Given the description of an element on the screen output the (x, y) to click on. 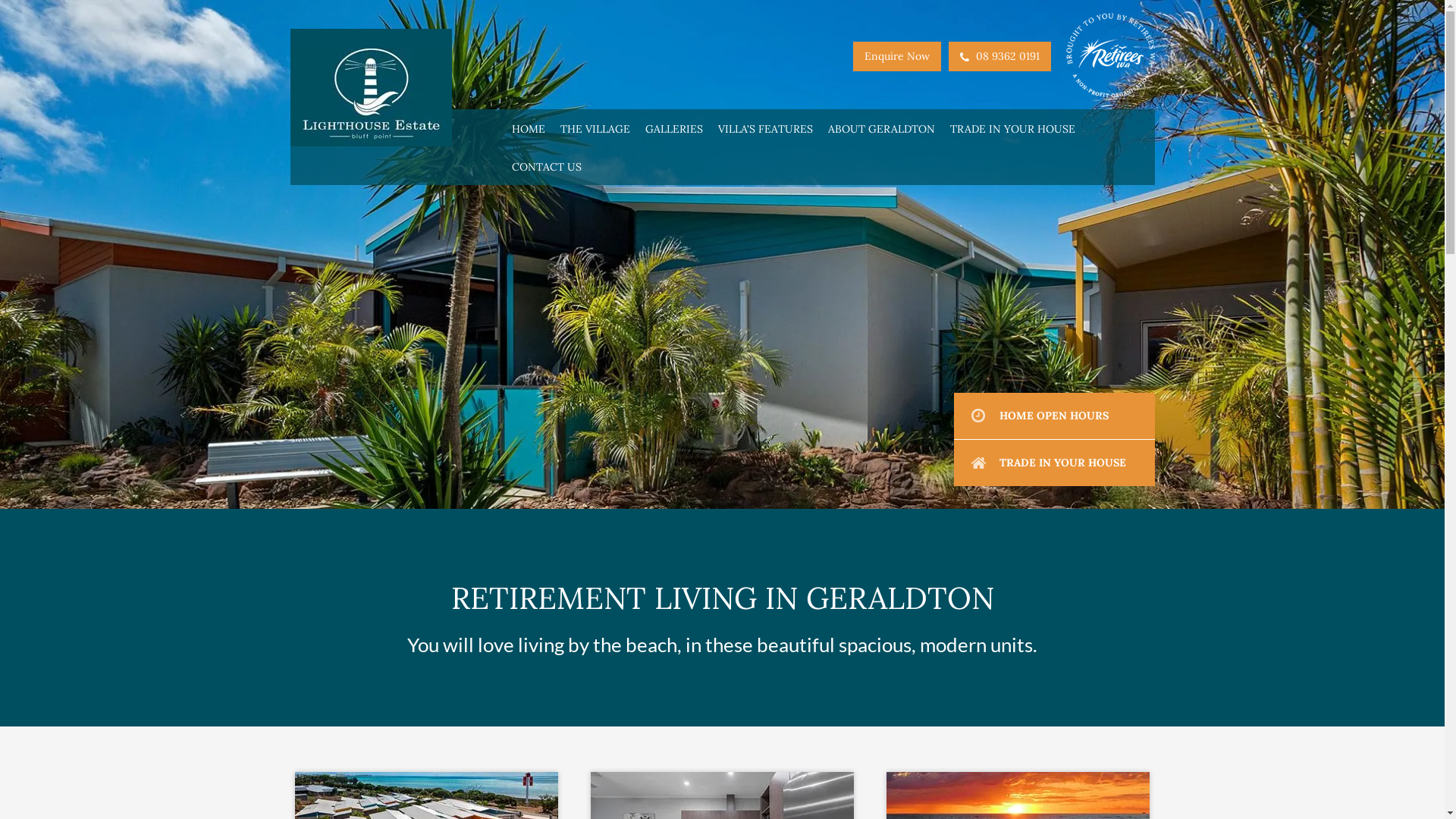
HOME Element type: text (528, 128)
CONTACT US Element type: text (546, 166)
ABOUT GERALDTON Element type: text (881, 128)
GALLERIES Element type: text (673, 128)
THE VILLAGE Element type: text (595, 128)
Enquire Now Element type: text (896, 56)
TRADE IN YOUR HOUSE Element type: text (1053, 462)
TRADE IN YOUR HOUSE Element type: text (1012, 128)
VILLA'S FEATURES Element type: text (765, 128)
HOME OPEN HOURS Element type: text (1053, 415)
08 9362 0191 Element type: text (998, 56)
